Given the description of an element on the screen output the (x, y) to click on. 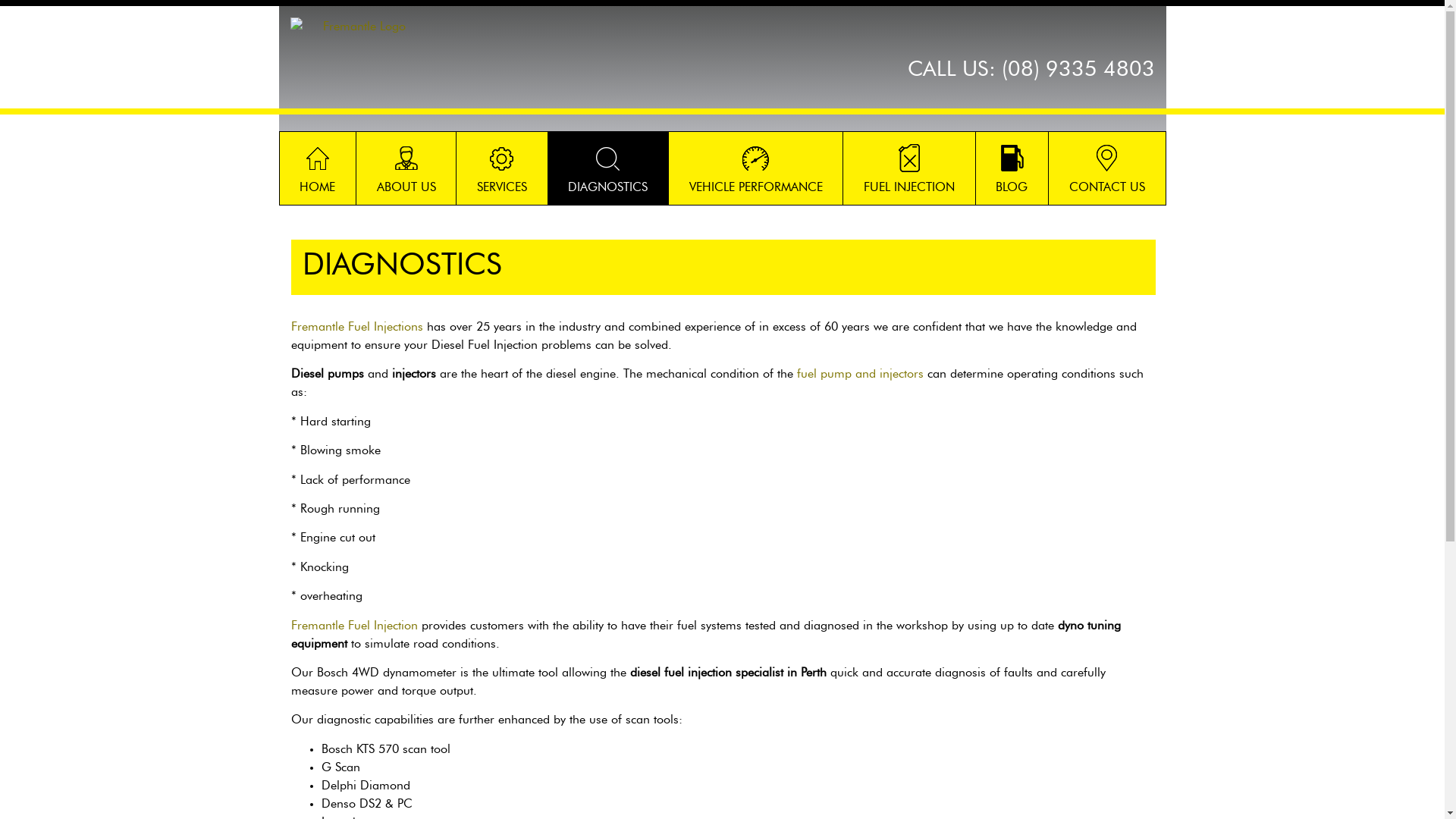
DIAGNOSTICS Element type: text (608, 167)
(08) 9335 4803 Element type: text (1077, 69)
ABOUT US Element type: text (405, 167)
fuel pump and injectors Element type: text (859, 373)
SERVICES Element type: text (501, 167)
Fremantle Fuel Injections Element type: text (357, 326)
HOME Element type: text (316, 167)
Fremantle Fuel Injection Element type: text (354, 625)
CONTACT US Element type: text (1106, 167)
VEHICLE PERFORMANCE Element type: text (755, 167)
BLOG Element type: text (1011, 167)
FUEL INJECTION Element type: text (908, 167)
